Given the description of an element on the screen output the (x, y) to click on. 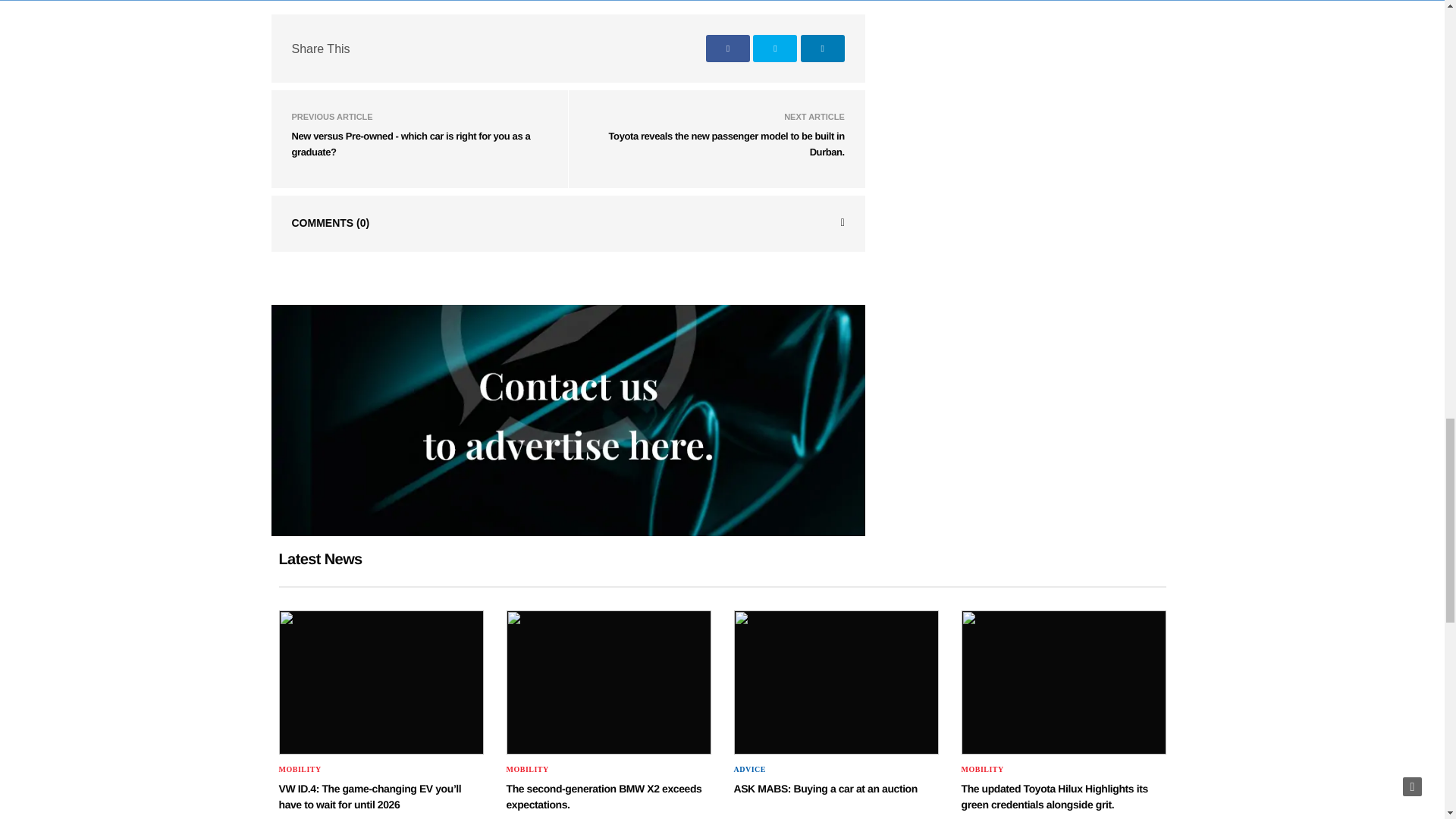
Mobility (300, 769)
Mobility (527, 769)
Advice (749, 769)
The second-generation BMW X2 exceeds expectations. (603, 796)
ASK MABS: Buying a car at an auction (825, 788)
The second-generation BMW X2 exceeds expectations. (608, 682)
ASK MABS: Buying a car at an auction (836, 682)
Mobility (982, 769)
